Given the description of an element on the screen output the (x, y) to click on. 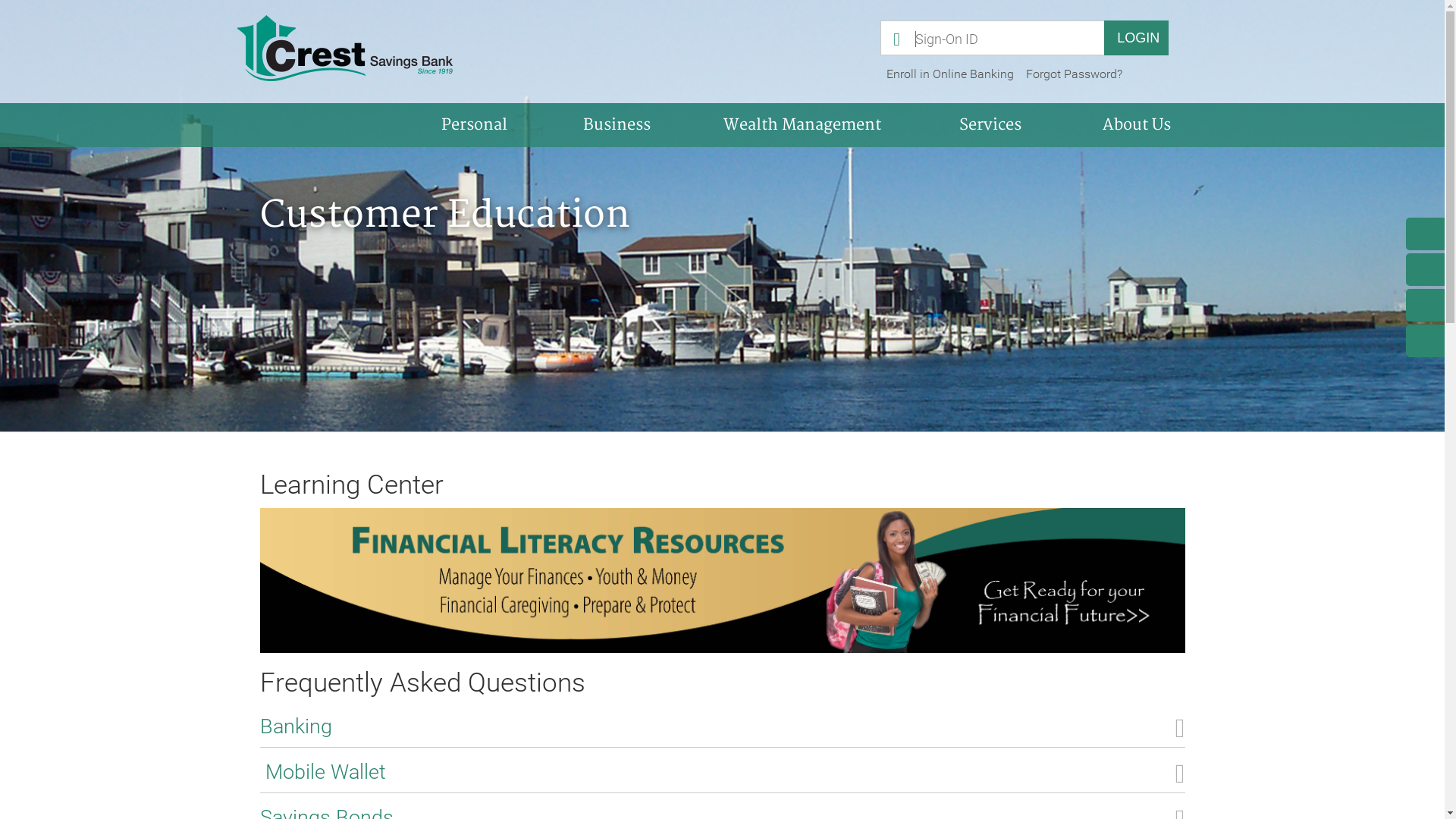
Financial Literacy Element type: hover (721, 580)
Enroll in Online Banking Element type: text (949, 73)
Services Element type: text (990, 125)
About Us Element type: text (1135, 125)
Wealth Management Element type: text (802, 125)
Business Element type: text (617, 125)
Login Element type: text (1136, 37)
Personal Element type: text (474, 125)
Fianancial Literacy Resources Element type: hover (721, 579)
Forgot Password? Element type: text (1073, 73)
